Given the description of an element on the screen output the (x, y) to click on. 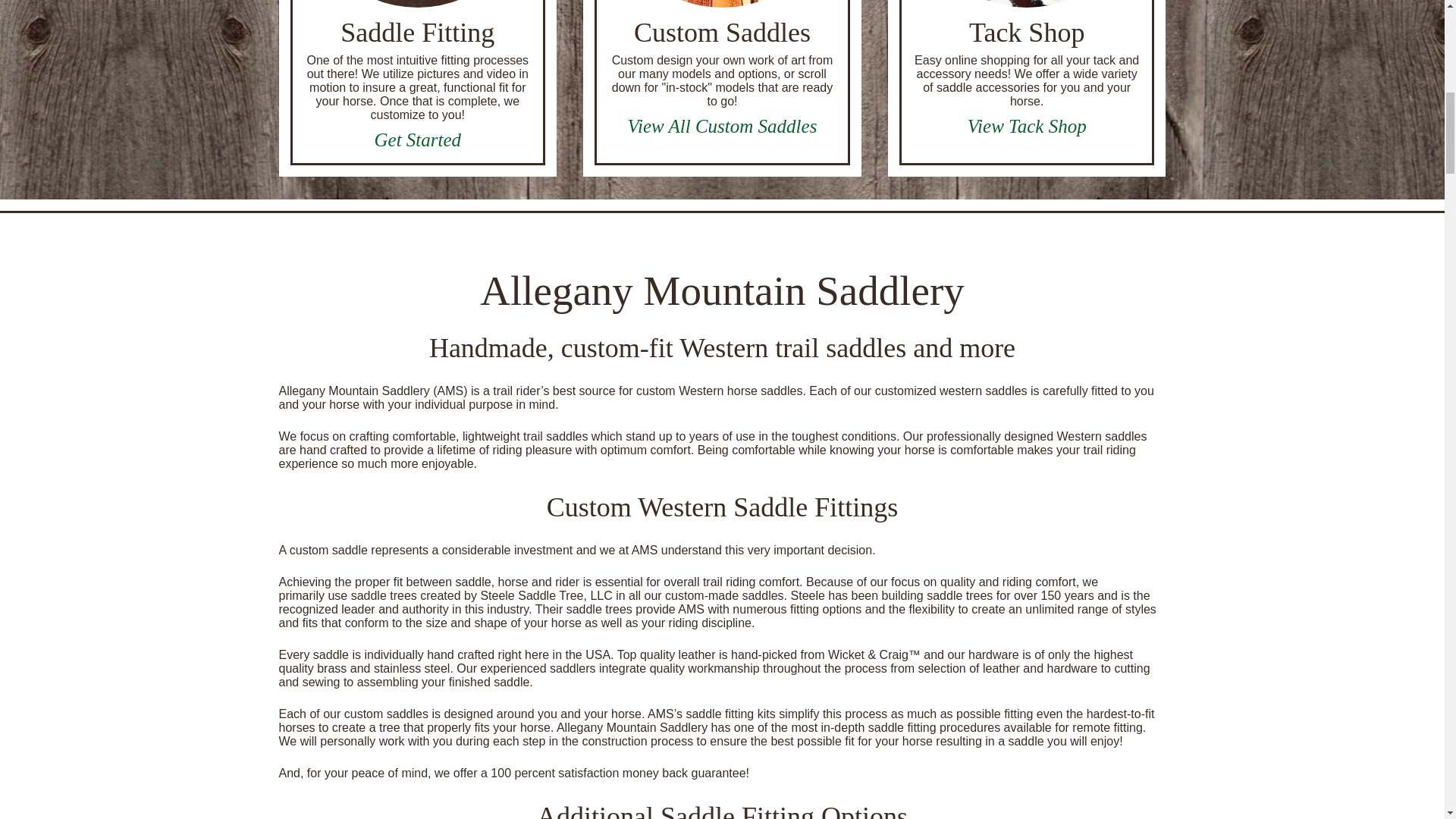
View All Custom Saddles (721, 126)
View Tack Shop (1027, 126)
Get Started (417, 139)
